Given the description of an element on the screen output the (x, y) to click on. 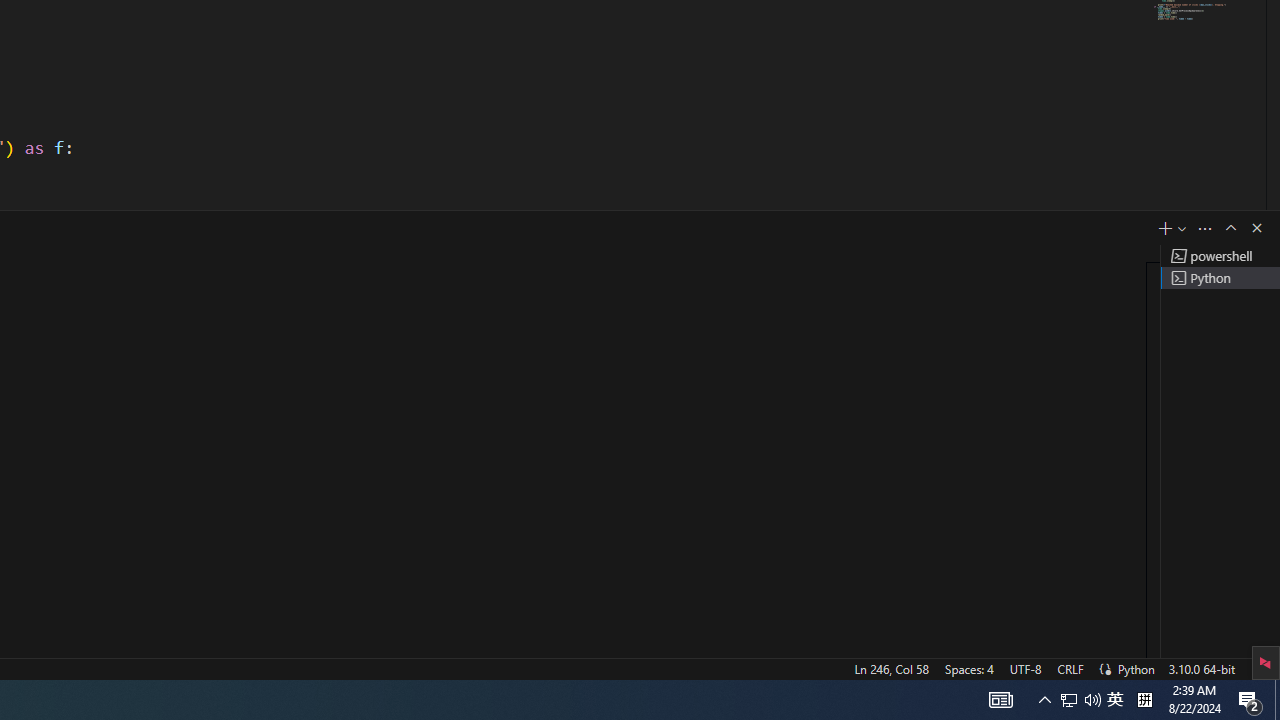
Ln 246, Col 58 (891, 668)
Maximize Panel Size (1230, 227)
UTF-8 (1025, 668)
Python (1135, 668)
Views and More Actions... (1205, 227)
Terminal 1 powershell (1220, 255)
CRLF (1070, 668)
Launch Profile... (1181, 227)
Terminal 5 Python (1220, 277)
Spaces: 4 (968, 668)
